Given the description of an element on the screen output the (x, y) to click on. 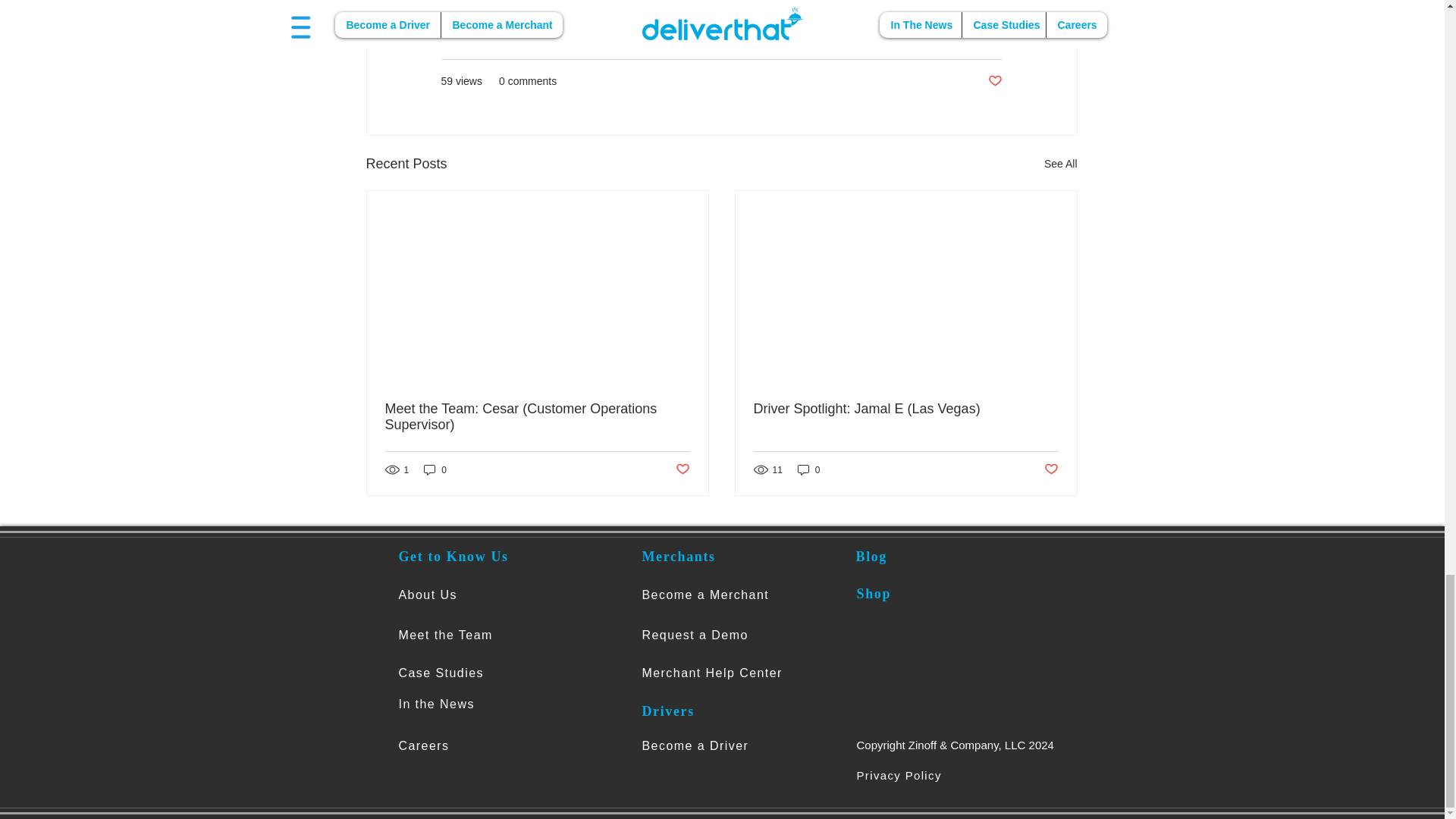
About Us (427, 594)
0 (435, 469)
Post not marked as liked (1050, 469)
0 (809, 469)
See All (1060, 164)
Meet the Team (445, 634)
Post not marked as liked (994, 81)
Post not marked as liked (681, 469)
